Given the description of an element on the screen output the (x, y) to click on. 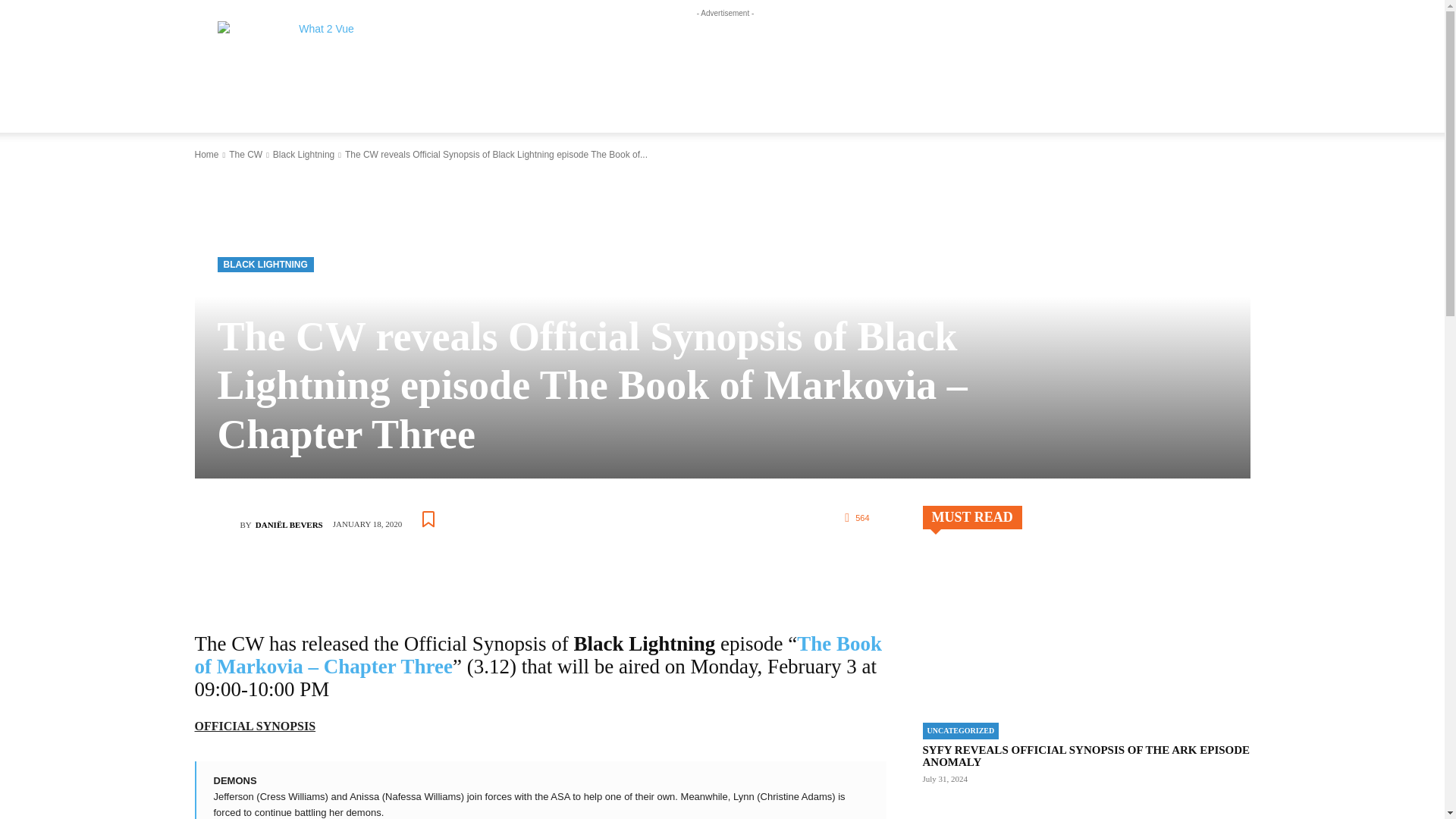
What 2 Vue (319, 55)
